Given the description of an element on the screen output the (x, y) to click on. 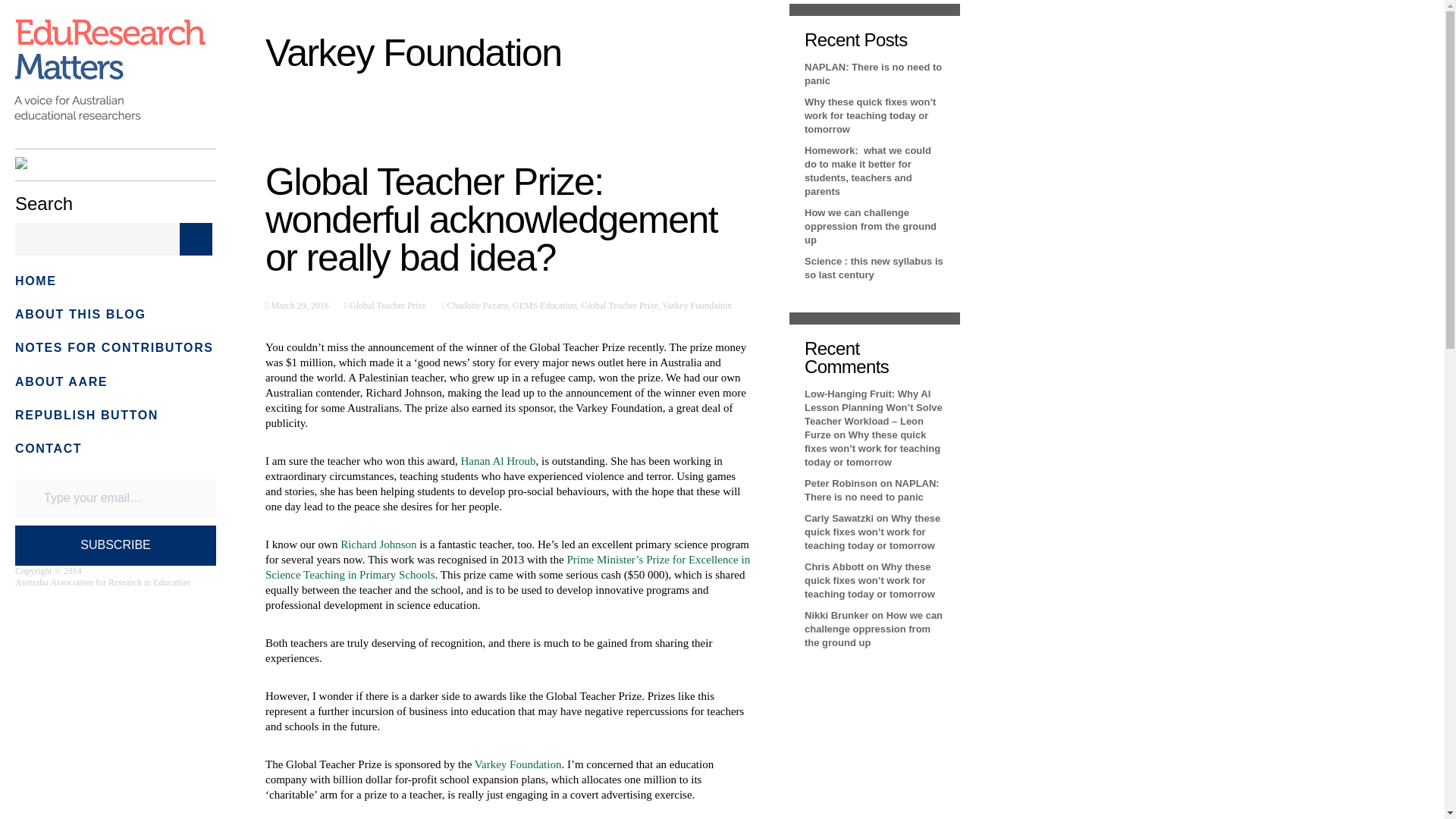
NAPLAN: There is no need to panic (872, 489)
Carly Sawatzki (839, 518)
Peter Robinson (841, 482)
ABOUT AARE (60, 381)
Charlotte Pezaro (475, 305)
Please fill in this field. (114, 498)
Science : this new syllabus is so last century (874, 267)
REPUBLISH BUTTON (86, 414)
Global Teacher Prize (619, 305)
